Given the description of an element on the screen output the (x, y) to click on. 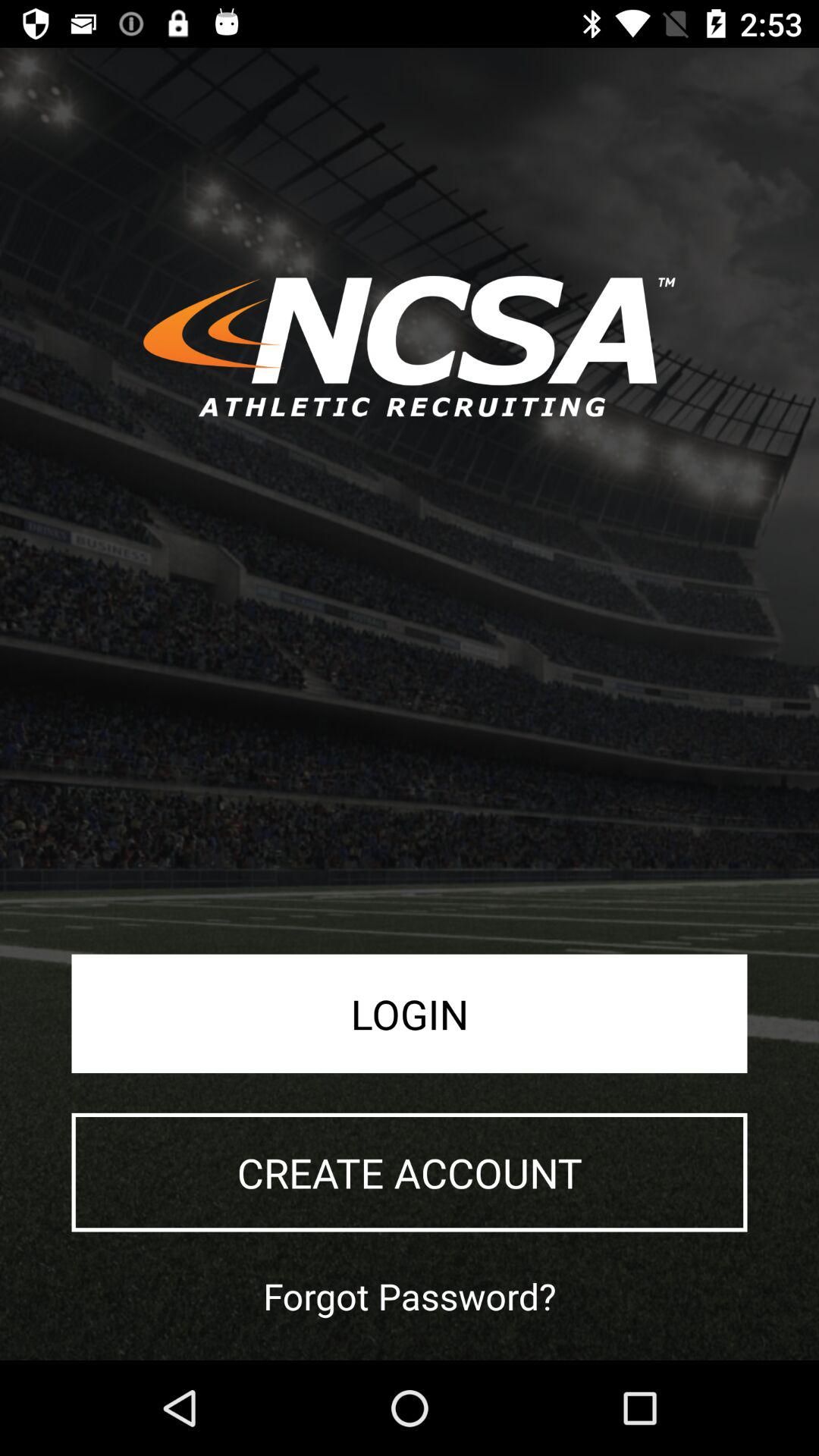
press the app below login app (409, 1172)
